Given the description of an element on the screen output the (x, y) to click on. 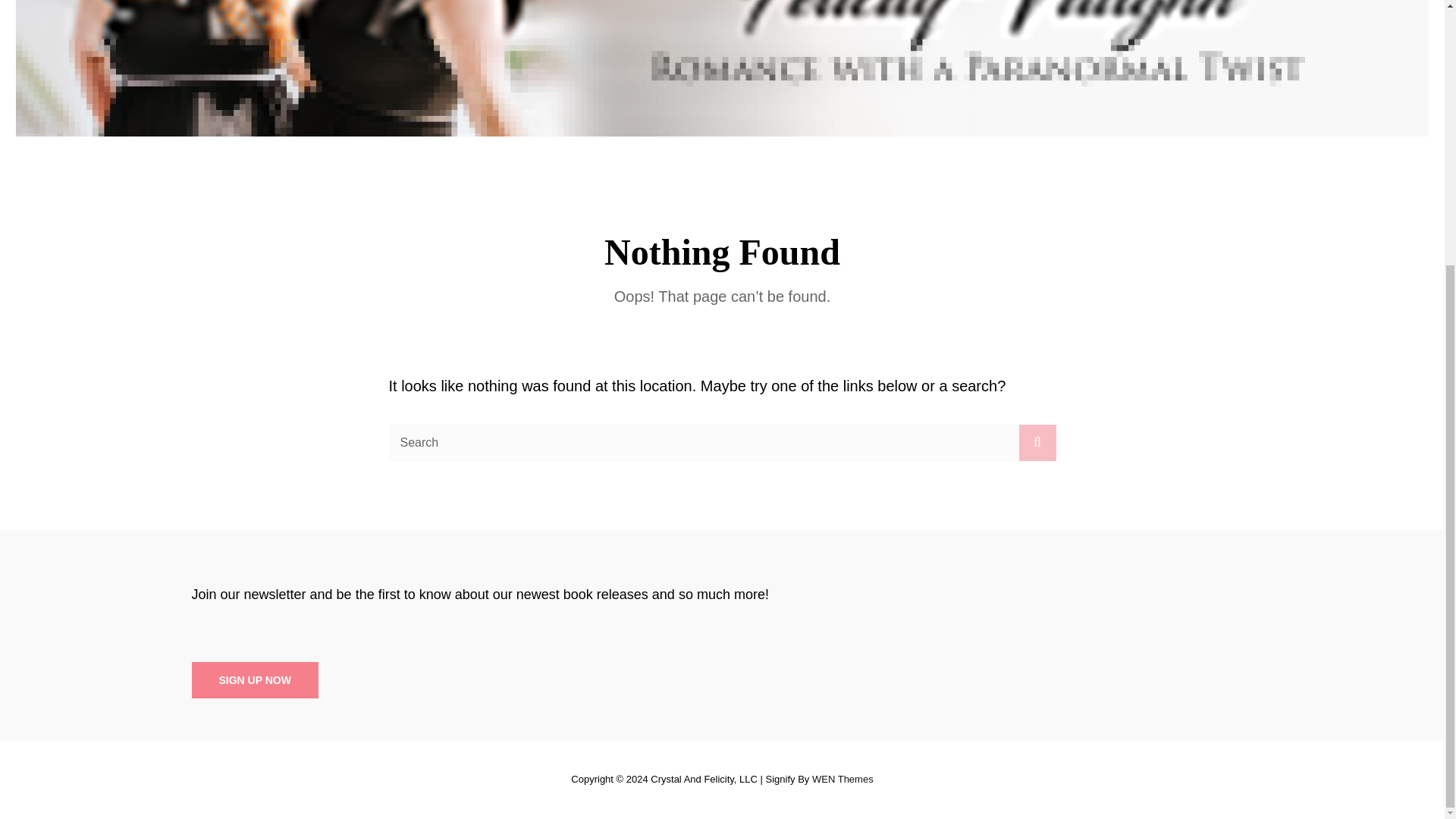
SIGN UP NOW (253, 680)
WEN Themes (842, 778)
Search (1038, 443)
